Given the description of an element on the screen output the (x, y) to click on. 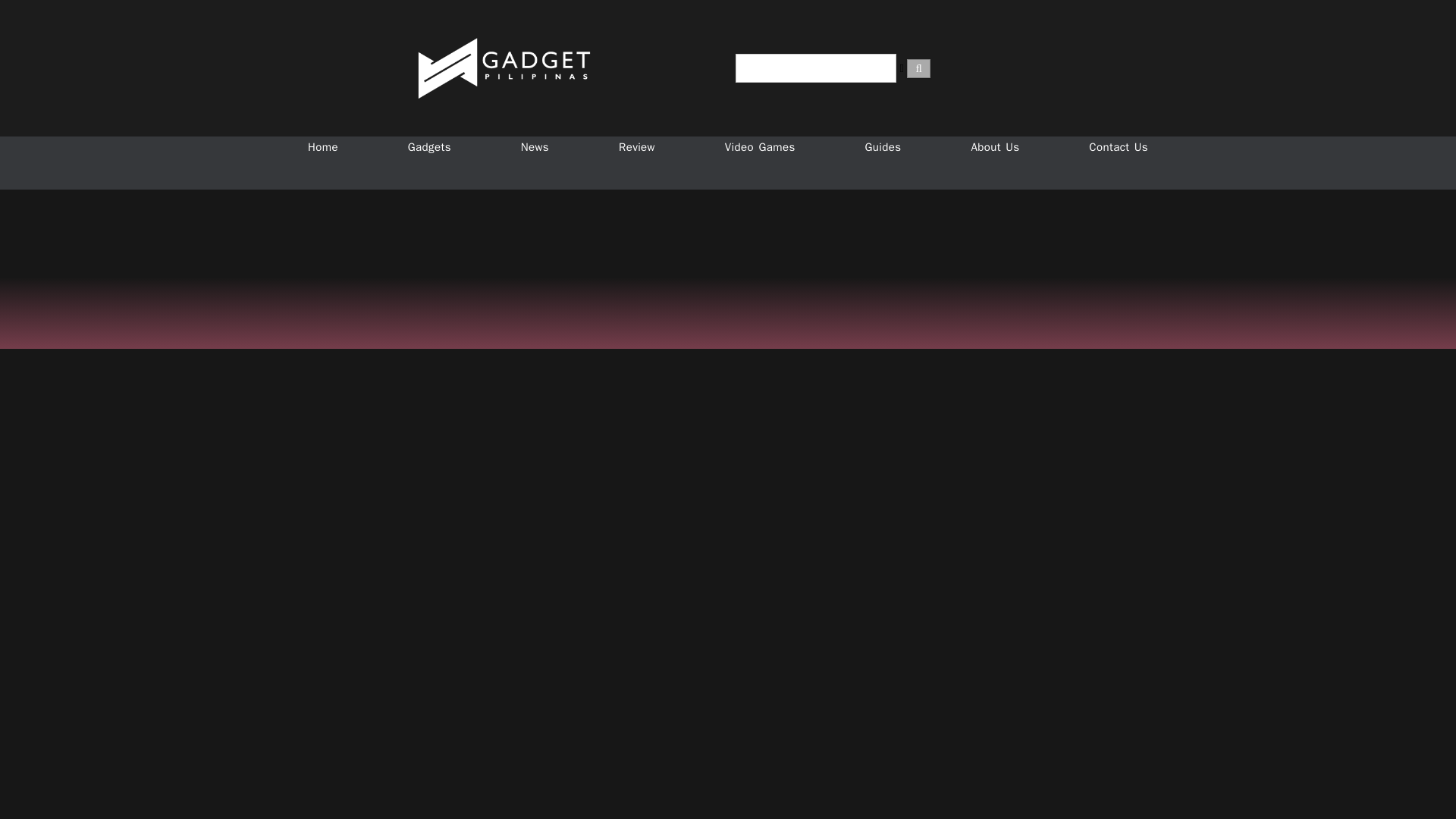
Guides (882, 147)
News (534, 147)
Gadgets (429, 147)
Home (322, 147)
Video Games (759, 147)
About Us (995, 147)
Contact Us (1118, 147)
Review (636, 147)
